Given the description of an element on the screen output the (x, y) to click on. 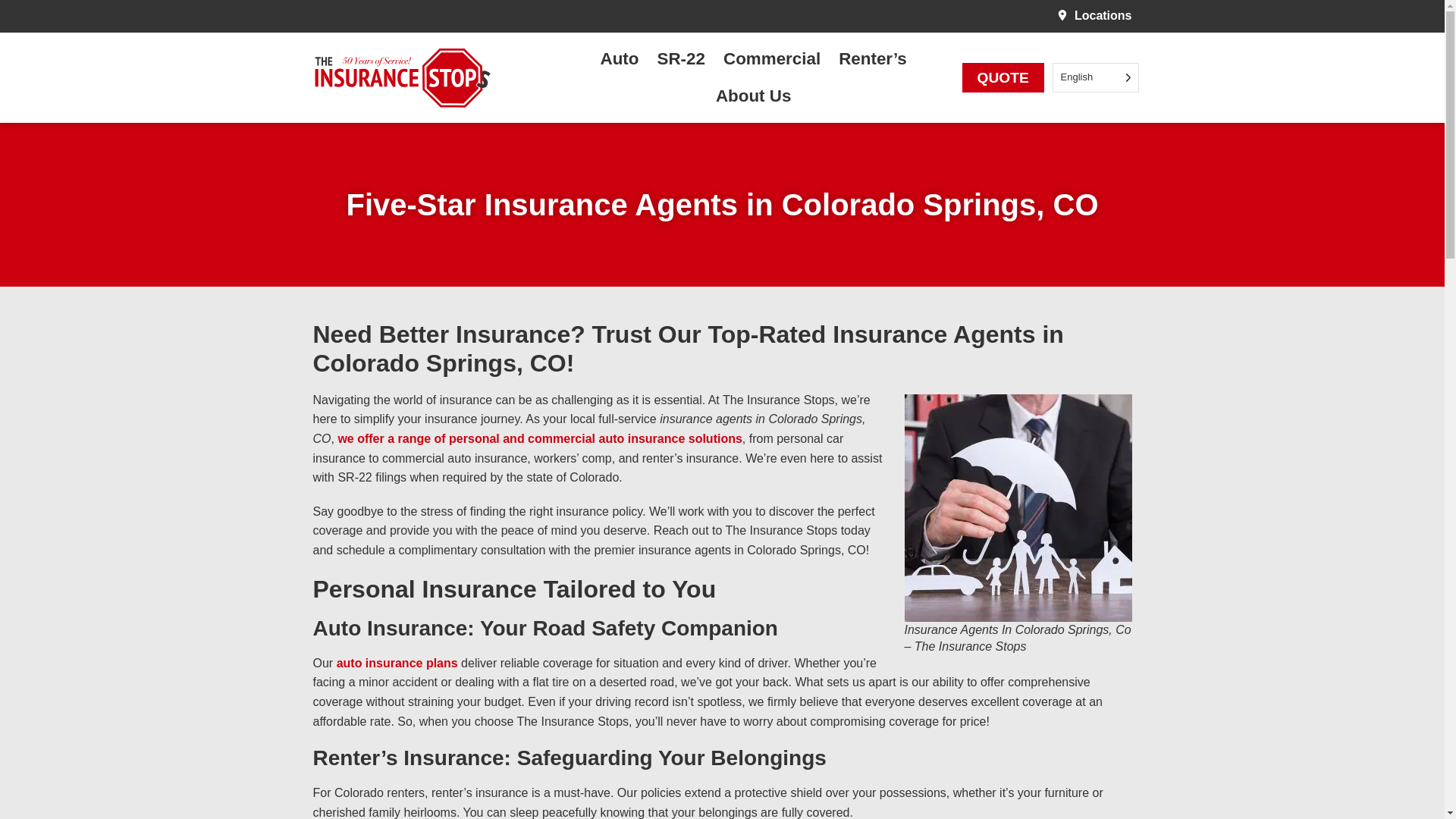
About Us (757, 95)
Commercial (774, 58)
Auto (623, 58)
Locations (1094, 15)
Five-Star Insurance Agents In Colorado Springs, Co (1017, 507)
SR-22 (684, 58)
